Given the description of an element on the screen output the (x, y) to click on. 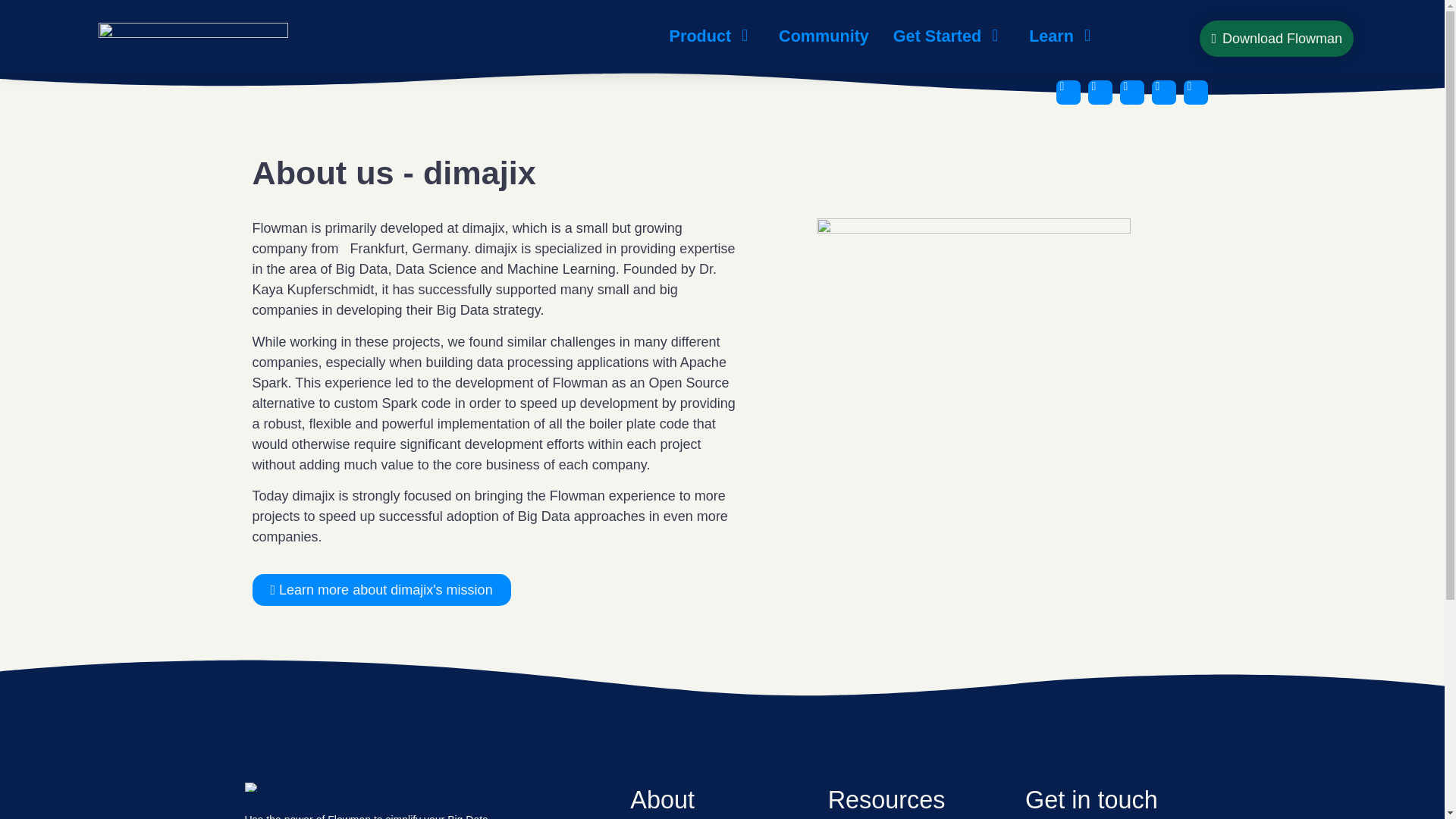
Download Flowman (1276, 37)
Community (823, 36)
Learn more about dimajix's mission (381, 590)
